Given the description of an element on the screen output the (x, y) to click on. 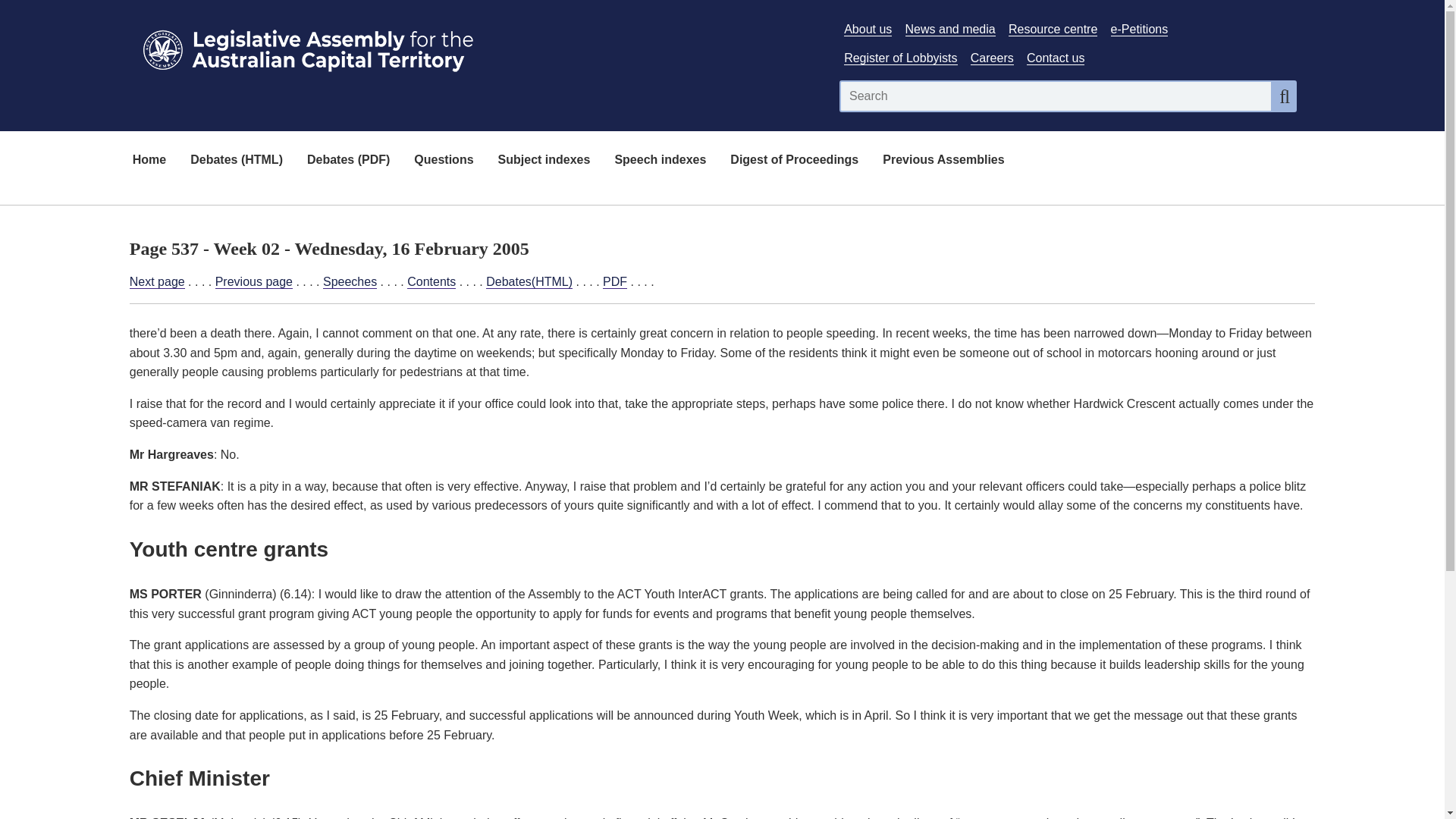
e-Petitions (1139, 29)
Speech indexes (659, 160)
Link to e-Petitions (1139, 29)
Speeches (350, 282)
Link to Resource centre (1053, 29)
About us (867, 29)
Resource centre (1053, 29)
Register of Lobbyists (900, 58)
Link to About Us (867, 29)
News and media (950, 29)
